Given the description of an element on the screen output the (x, y) to click on. 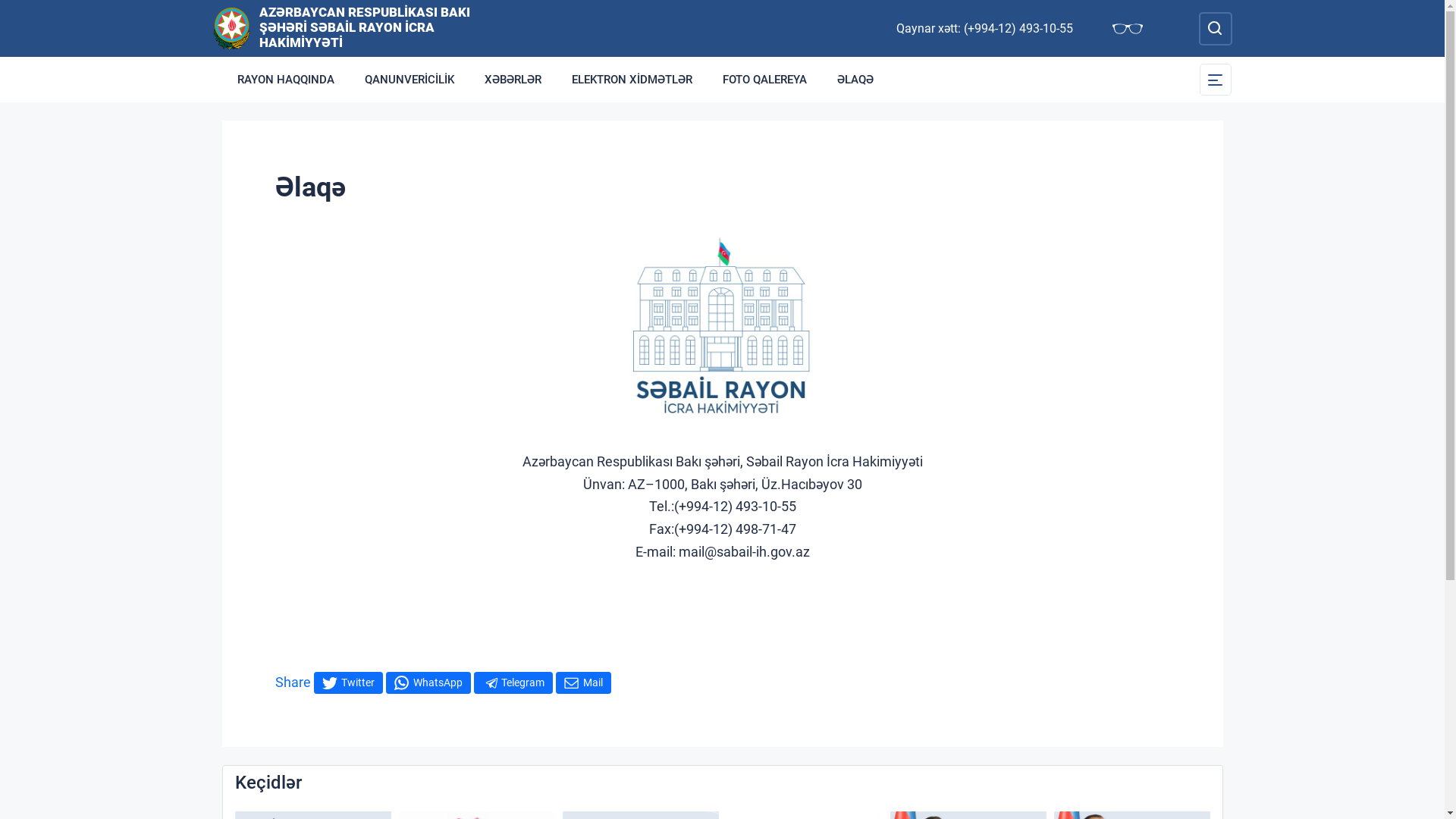
QANUNVERICILIK Element type: text (408, 79)
Share Element type: text (292, 682)
WhatsApp Element type: text (427, 682)
Telegram Element type: text (512, 682)
FOTO QALEREYA Element type: text (763, 79)
Mail Element type: text (582, 682)
Twitter Element type: text (347, 682)
RAYON HAQQINDA Element type: text (284, 79)
